Given the description of an element on the screen output the (x, y) to click on. 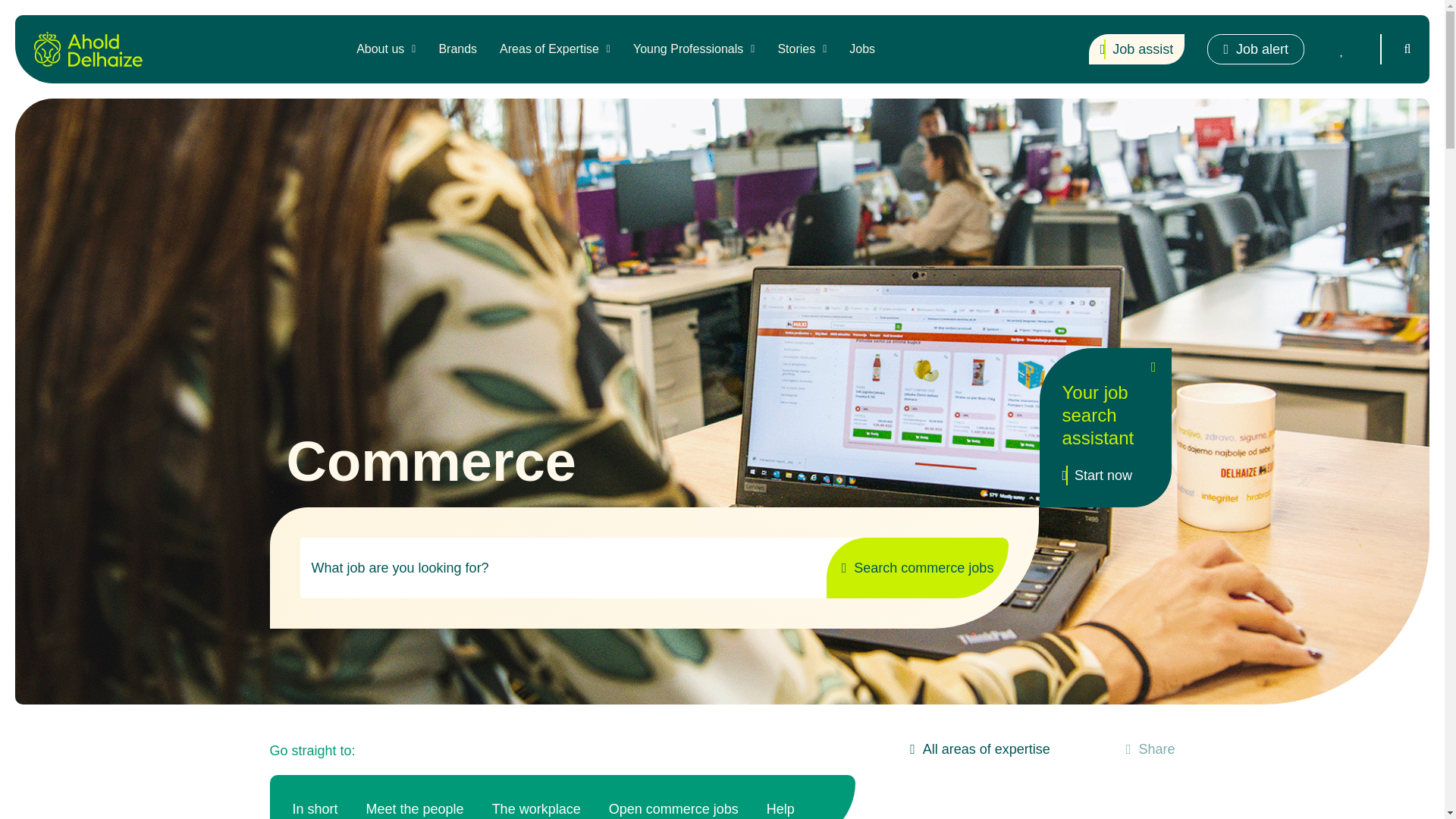
Areas of Expertise (554, 48)
Brands (456, 48)
Young Professionals (693, 48)
About us (385, 48)
0 (1341, 49)
Job alert (1255, 49)
Jobs (862, 48)
Jobs (862, 48)
About us (385, 48)
Brands (456, 48)
Go to homepage (87, 48)
Areas of Expertise (554, 48)
Young Professionals (693, 48)
Job assist (1137, 49)
Stories (801, 48)
